Given the description of an element on the screen output the (x, y) to click on. 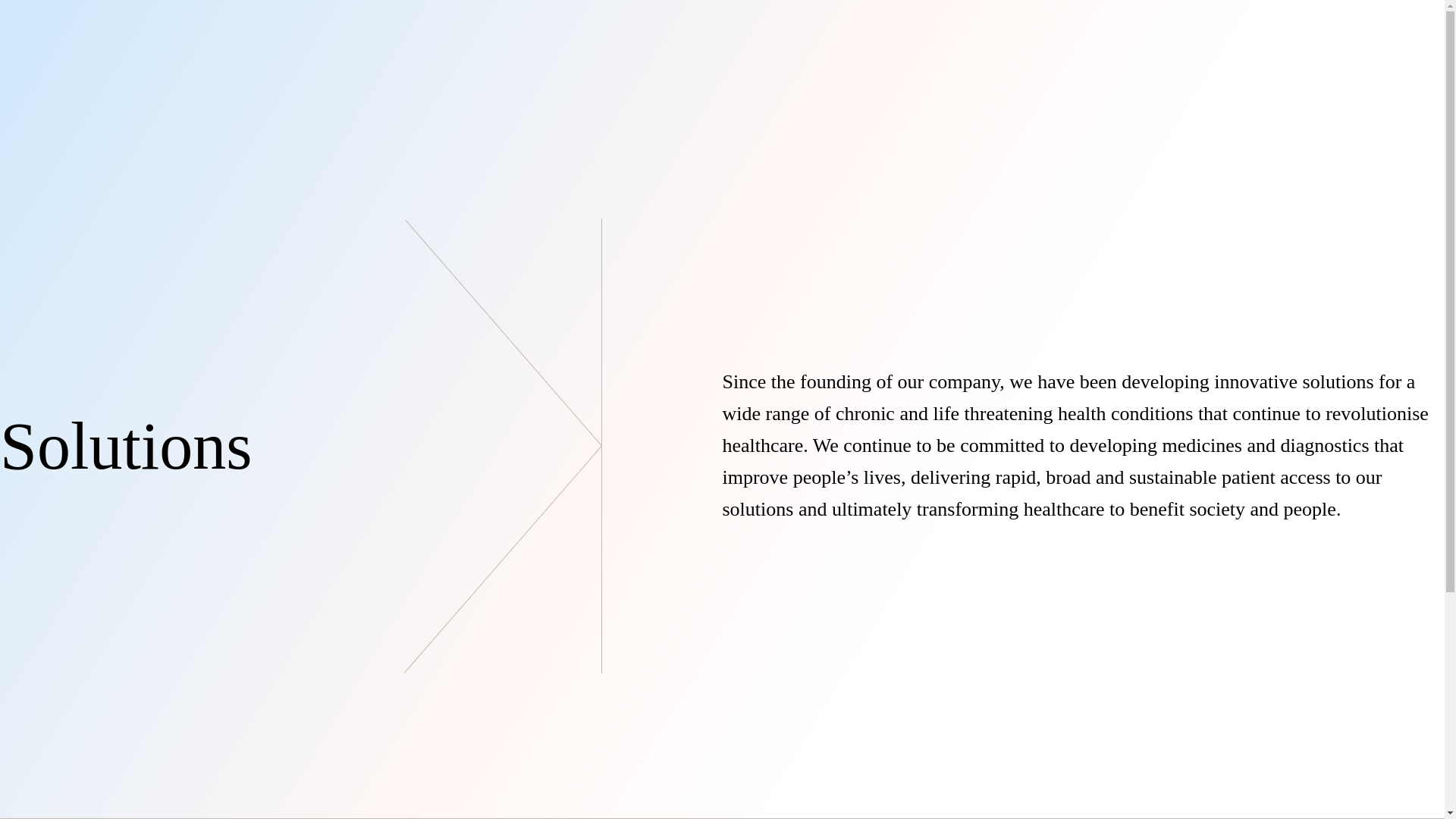
Stories (245, 200)
Careers (24, 107)
About Roche (40, 197)
Solutions (139, 197)
